Given the description of an element on the screen output the (x, y) to click on. 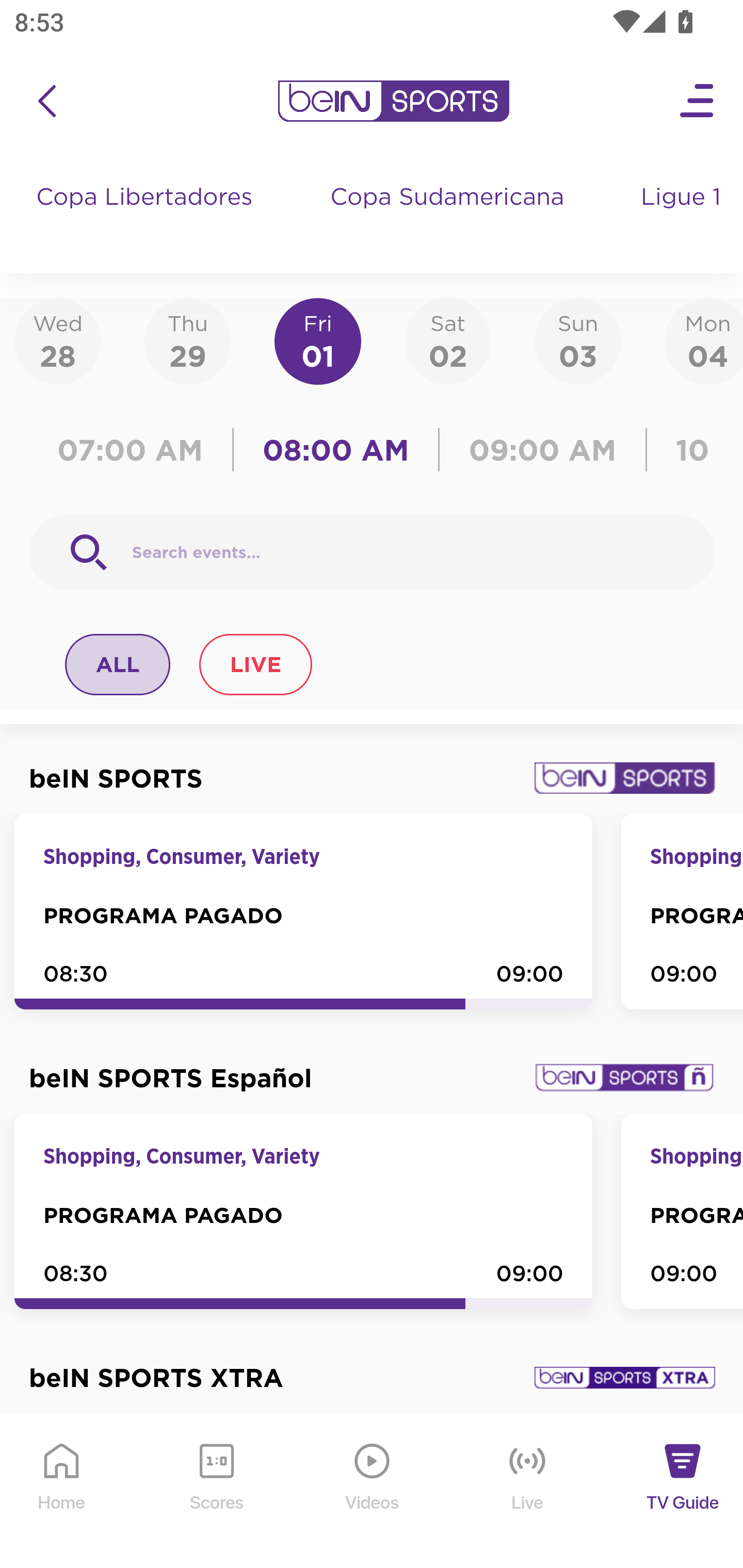
en-us?platform=mobile_android bein logo (392, 101)
icon back (46, 101)
Open Menu Icon (697, 101)
Copa Libertadores (146, 216)
Copa Sudamericana (448, 216)
Ligue 1 (682, 216)
Wed28 (58, 340)
Thu29 (187, 340)
Fri01 (318, 340)
Sat02 (447, 340)
Sun03 (578, 340)
Mon04 (703, 340)
07:00 AM (135, 449)
08:00 AM (336, 449)
09:00 AM (542, 449)
ALL (118, 663)
LIVE (255, 663)
Home Home Icon Home (61, 1491)
Scores Scores Icon Scores (216, 1491)
Videos Videos Icon Videos (372, 1491)
TV Guide TV Guide Icon TV Guide (682, 1491)
